Given the description of an element on the screen output the (x, y) to click on. 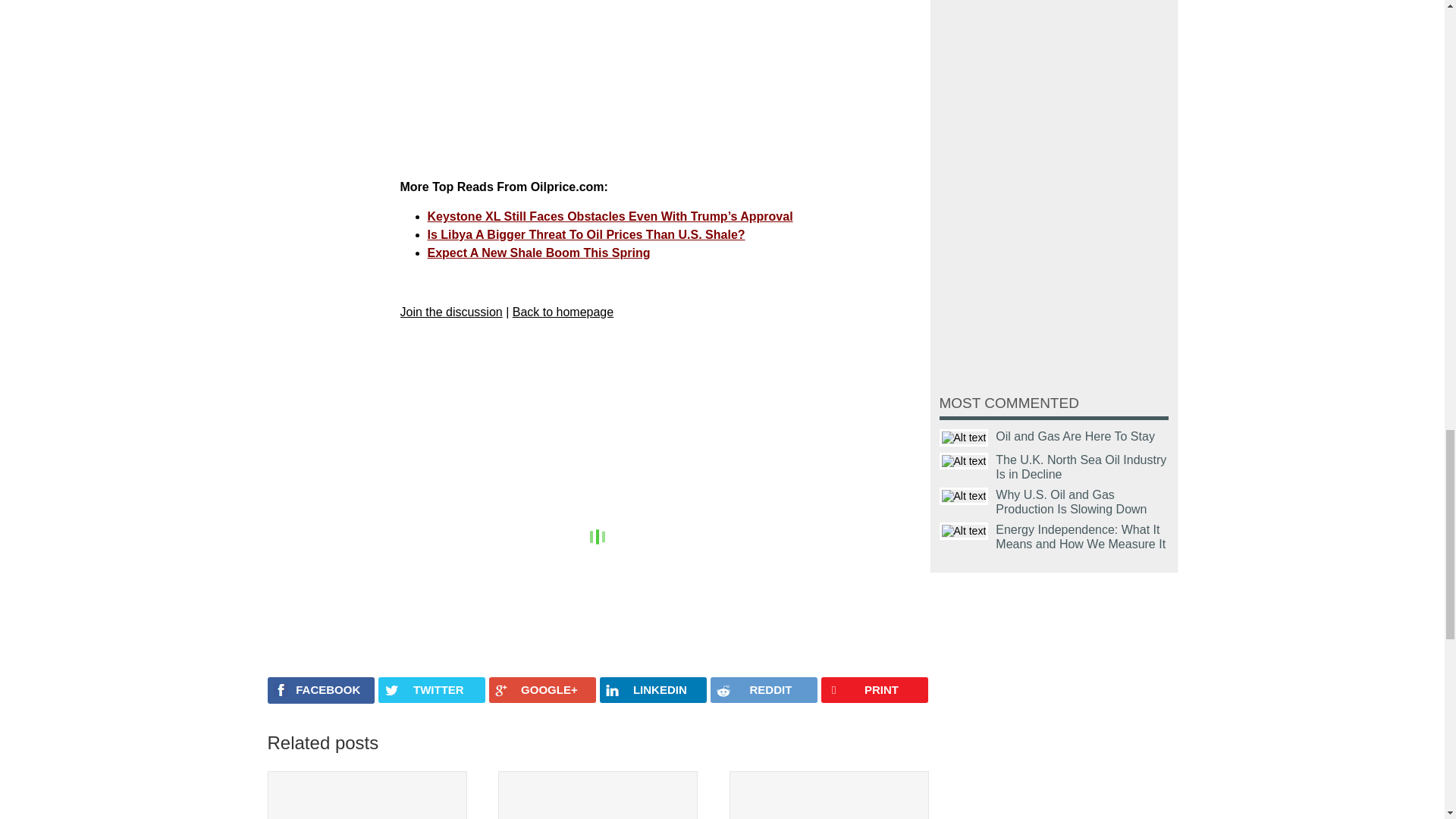
Title text (963, 496)
Title text (963, 461)
Title text (963, 530)
Title text (963, 437)
